Given the description of an element on the screen output the (x, y) to click on. 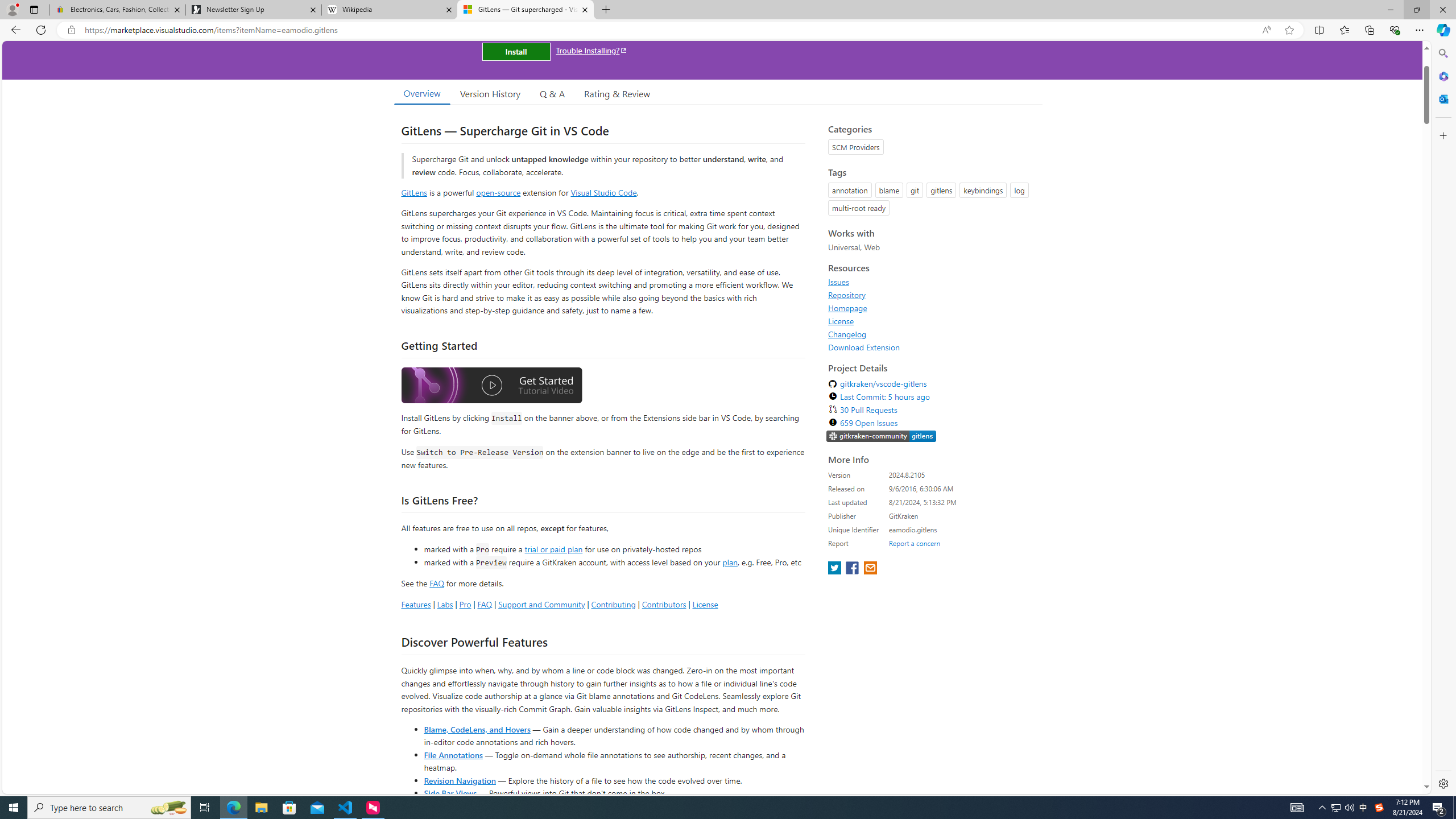
share extension on facebook (853, 568)
Newsletter Sign Up (253, 9)
Changelog (931, 333)
Revision Navigation (459, 780)
open-source (498, 192)
Q & A (552, 92)
Rating & Review (618, 92)
